Given the description of an element on the screen output the (x, y) to click on. 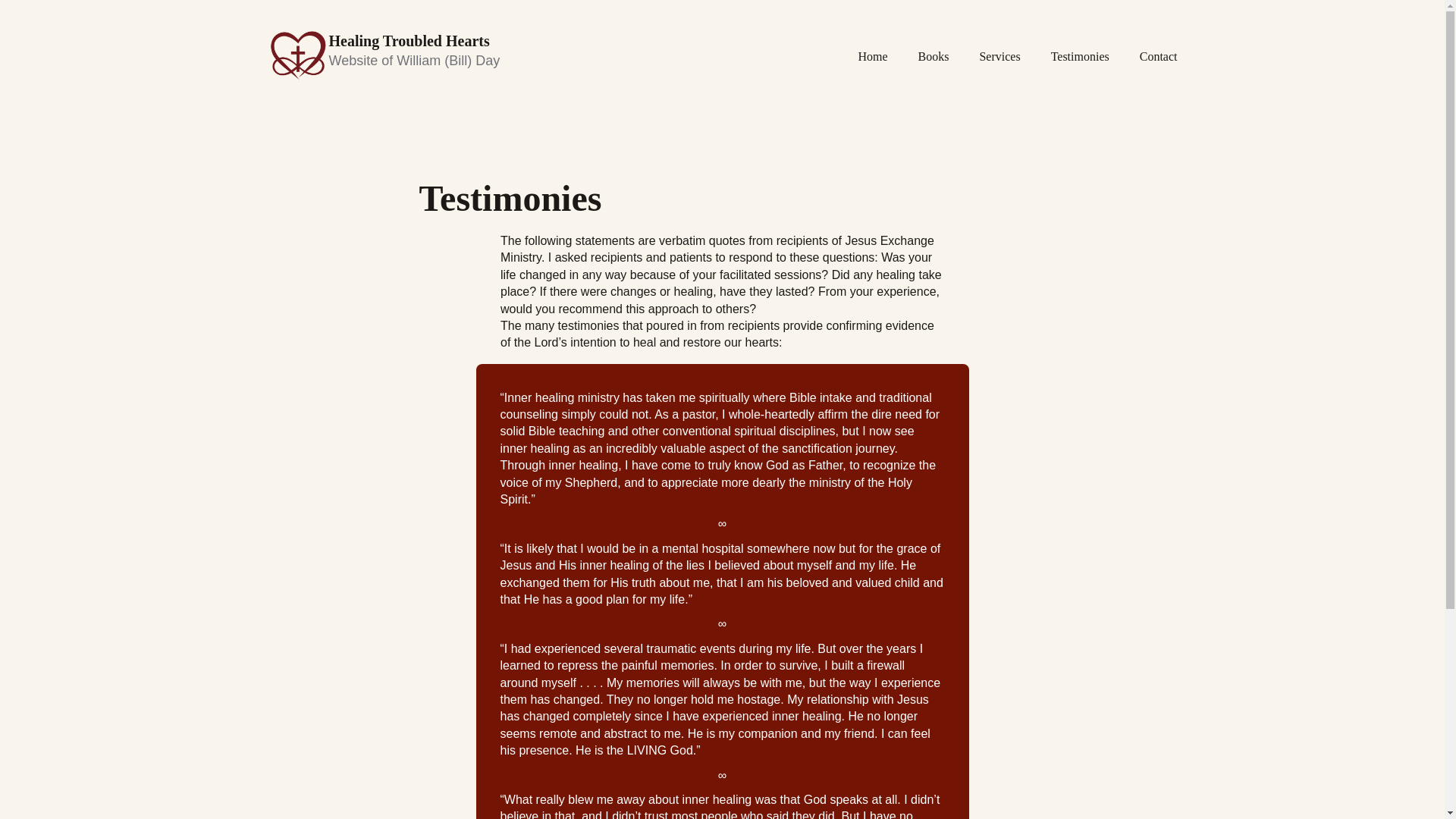
Contact (1158, 56)
Books (933, 56)
Services (999, 56)
Home (871, 56)
Healing Troubled Hearts (409, 40)
Testimonies (1080, 56)
